Given the description of an element on the screen output the (x, y) to click on. 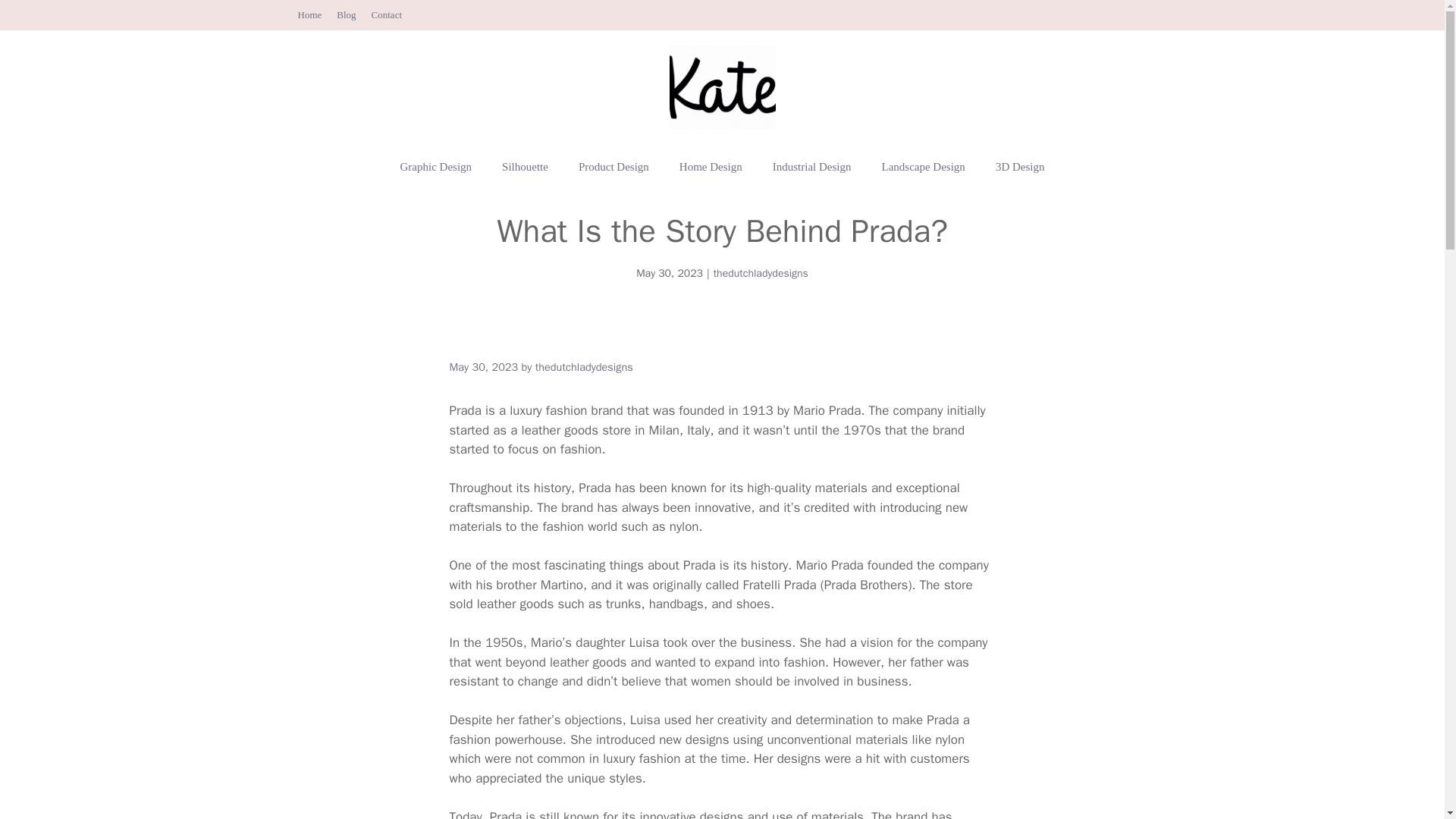
Home Design (710, 166)
Blog (345, 14)
Contact (386, 14)
Product Design (613, 166)
Home (309, 14)
Graphic Design (436, 166)
View all posts by thedutchladydesigns (584, 366)
Landscape Design (922, 166)
Silhouette (524, 166)
thedutchladydesigns (760, 273)
